Given the description of an element on the screen output the (x, y) to click on. 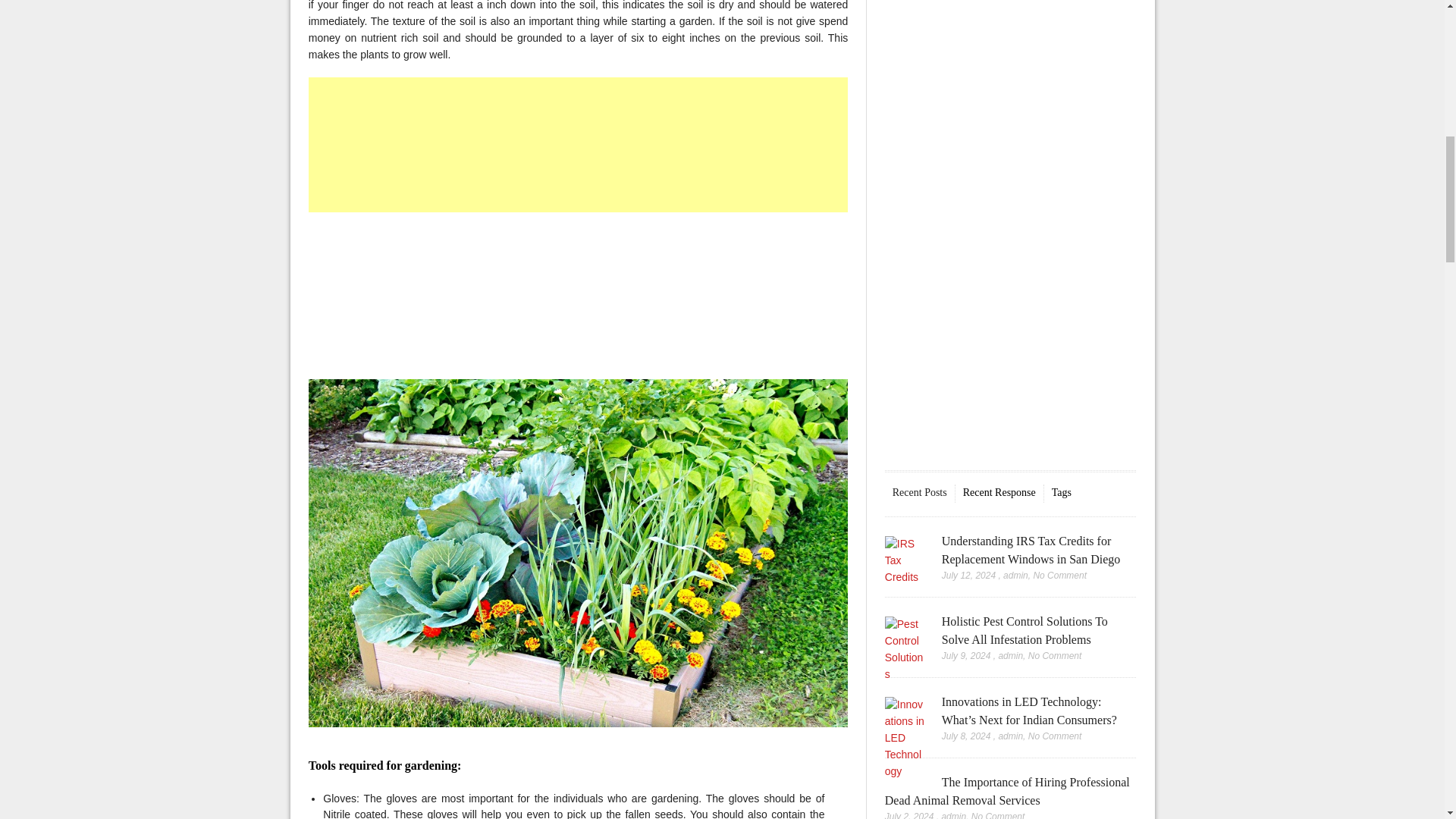
Recent Posts (919, 492)
Posts by admin (1015, 575)
Recent Response (998, 492)
Posts by admin (1010, 655)
